Given the description of an element on the screen output the (x, y) to click on. 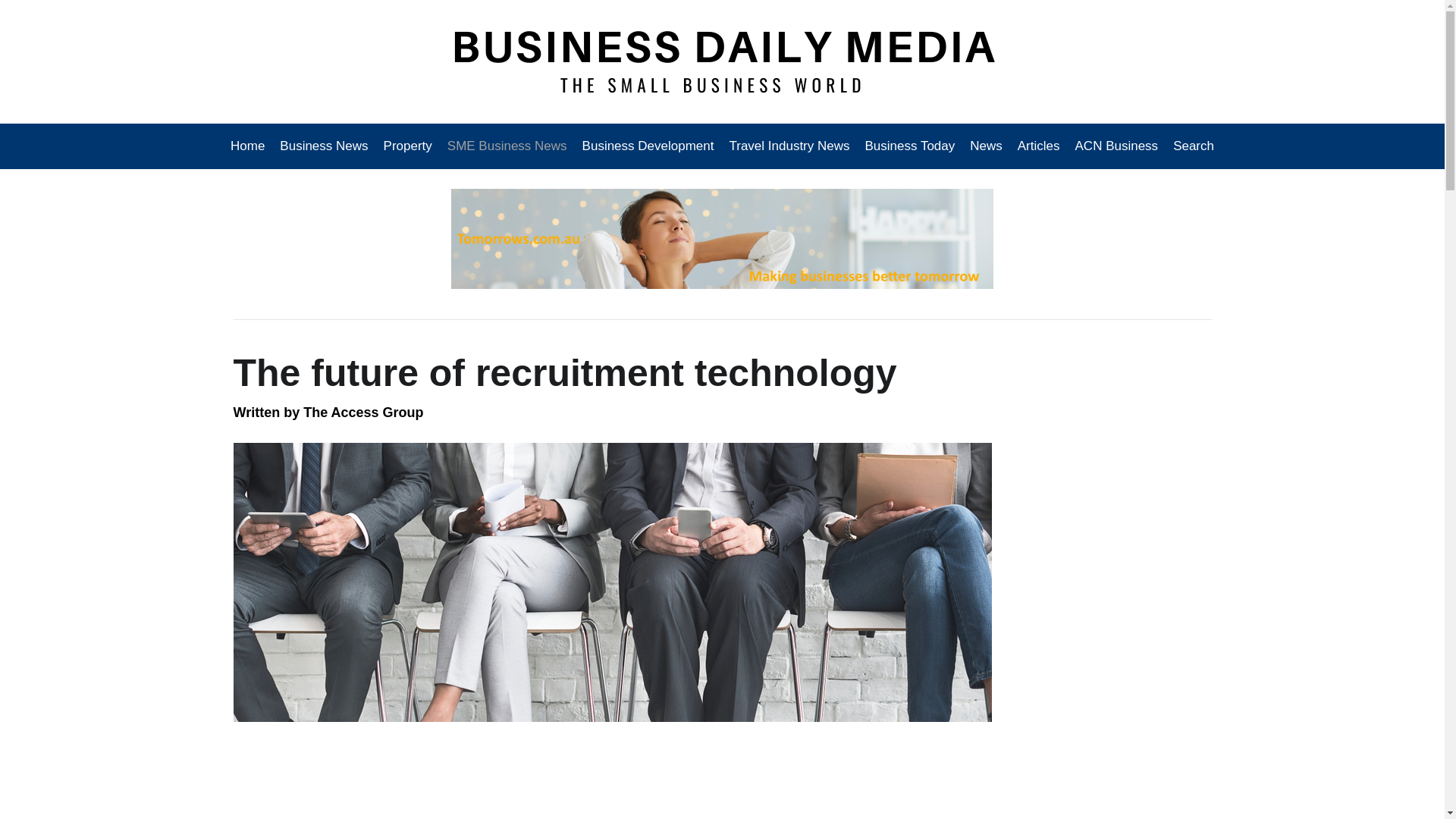
Search (1190, 145)
SME Business News (507, 145)
Articles (1038, 145)
Home (251, 145)
Business Development (648, 145)
Business Today (909, 145)
Travel Industry News (788, 145)
Business News (323, 145)
Property (407, 145)
ACN Business (1116, 145)
News (986, 145)
